Given the description of an element on the screen output the (x, y) to click on. 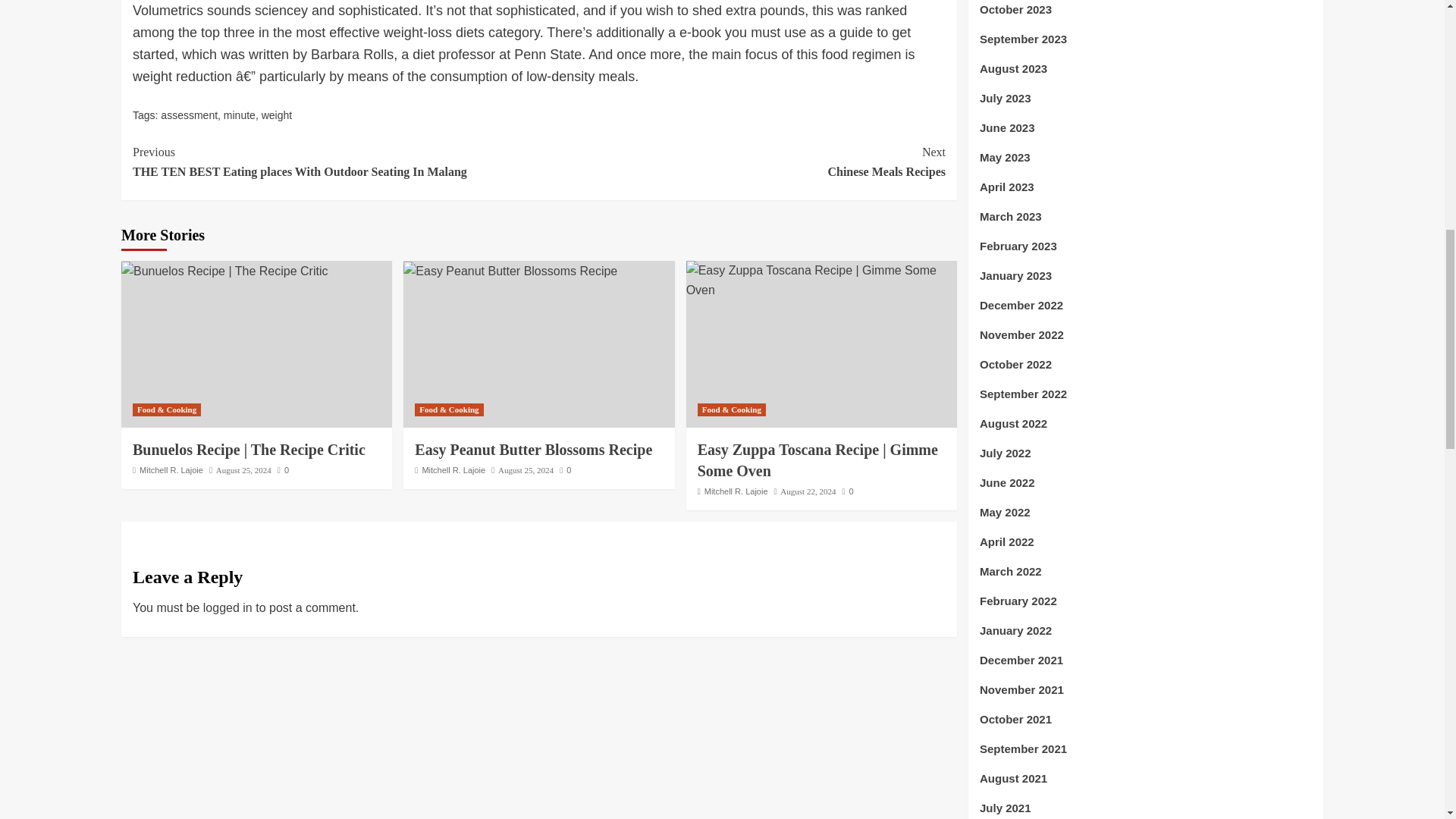
weight (277, 114)
Mitchell R. Lajoie (453, 470)
August 25, 2024 (242, 470)
August 25, 2024 (525, 470)
assessment (188, 114)
Mitchell R. Lajoie (741, 161)
minute (171, 470)
Easy Peanut Butter Blossoms Recipe (240, 114)
